Given the description of an element on the screen output the (x, y) to click on. 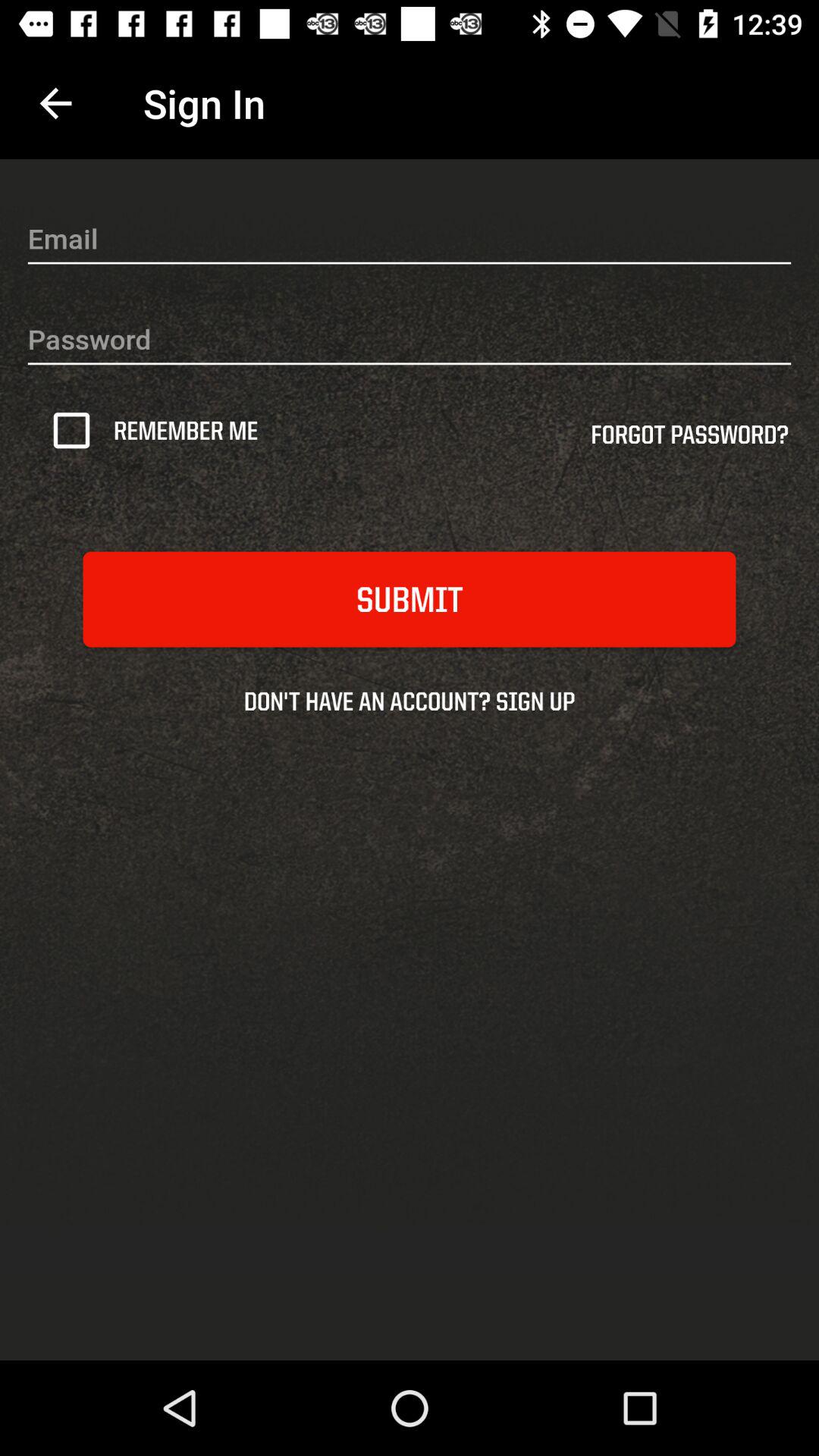
turn off item below forgot password? item (409, 599)
